Given the description of an element on the screen output the (x, y) to click on. 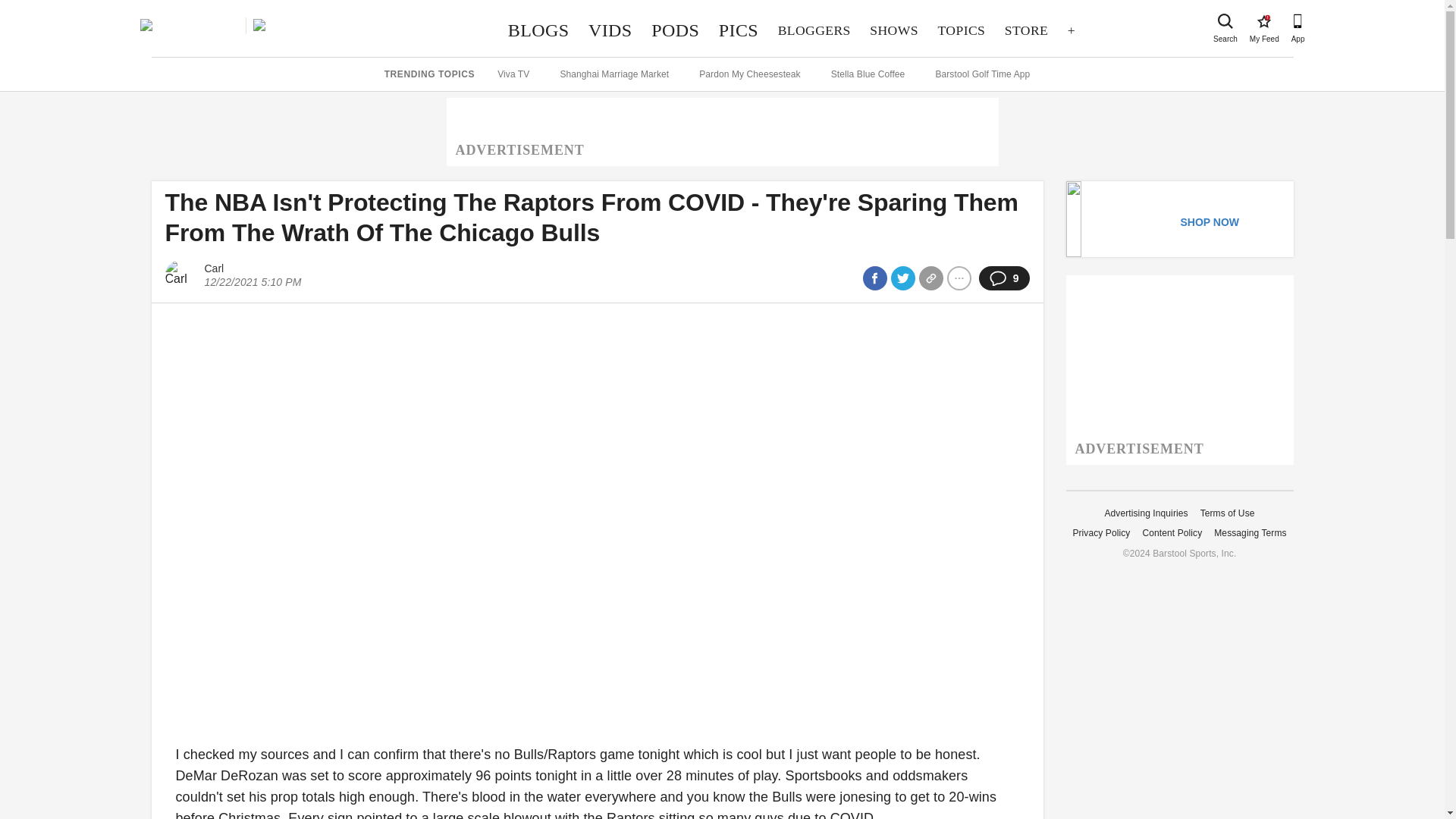
STORE (1026, 30)
VIDS (610, 30)
PICS (738, 30)
Search (1263, 20)
PODS (1225, 20)
TOPICS (675, 30)
BLOGS (961, 30)
BLOGGERS (537, 30)
SHOWS (814, 30)
